Given the description of an element on the screen output the (x, y) to click on. 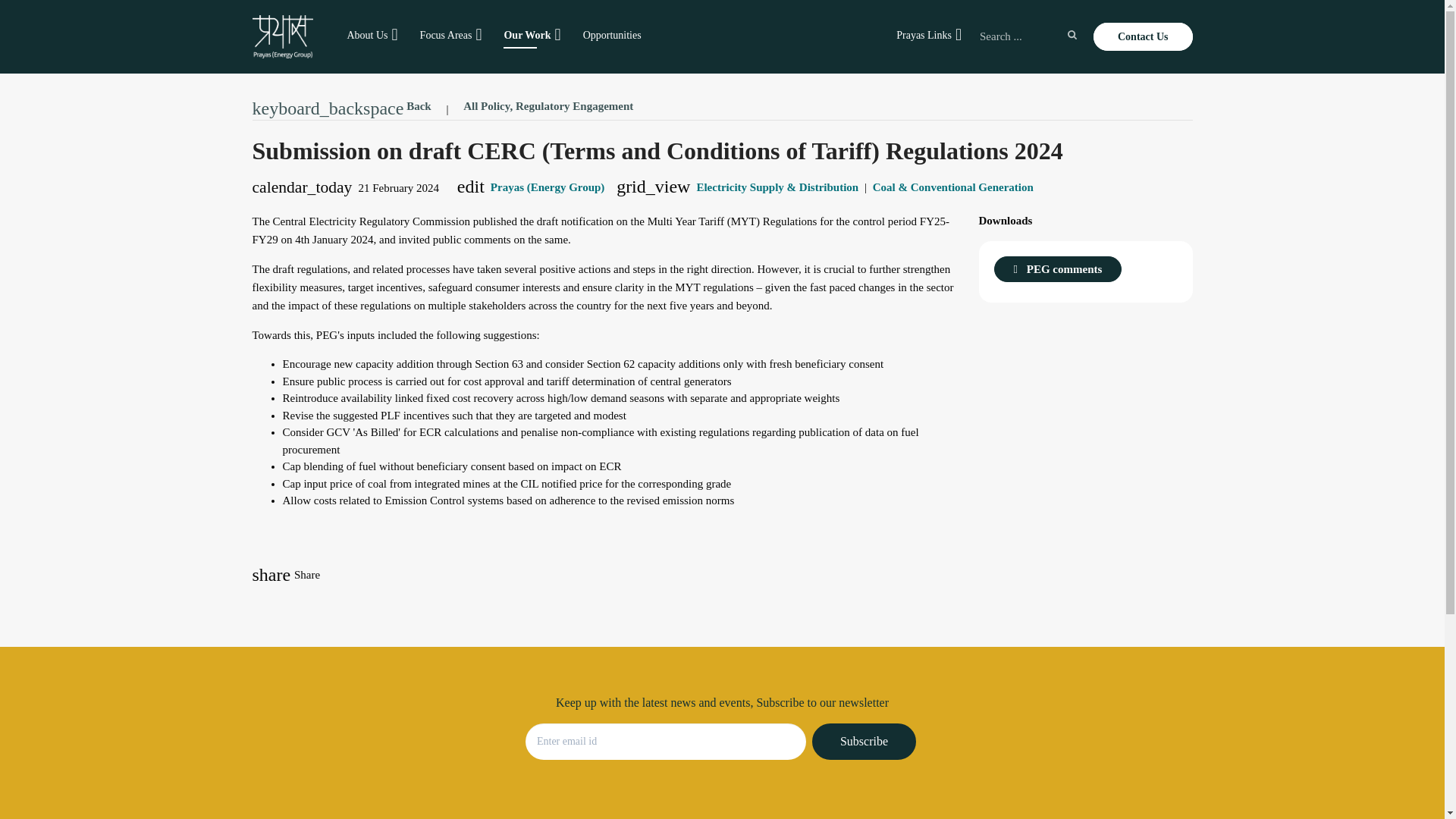
About Us (366, 35)
Contact Us (1142, 36)
Our Work (526, 35)
